Given the description of an element on the screen output the (x, y) to click on. 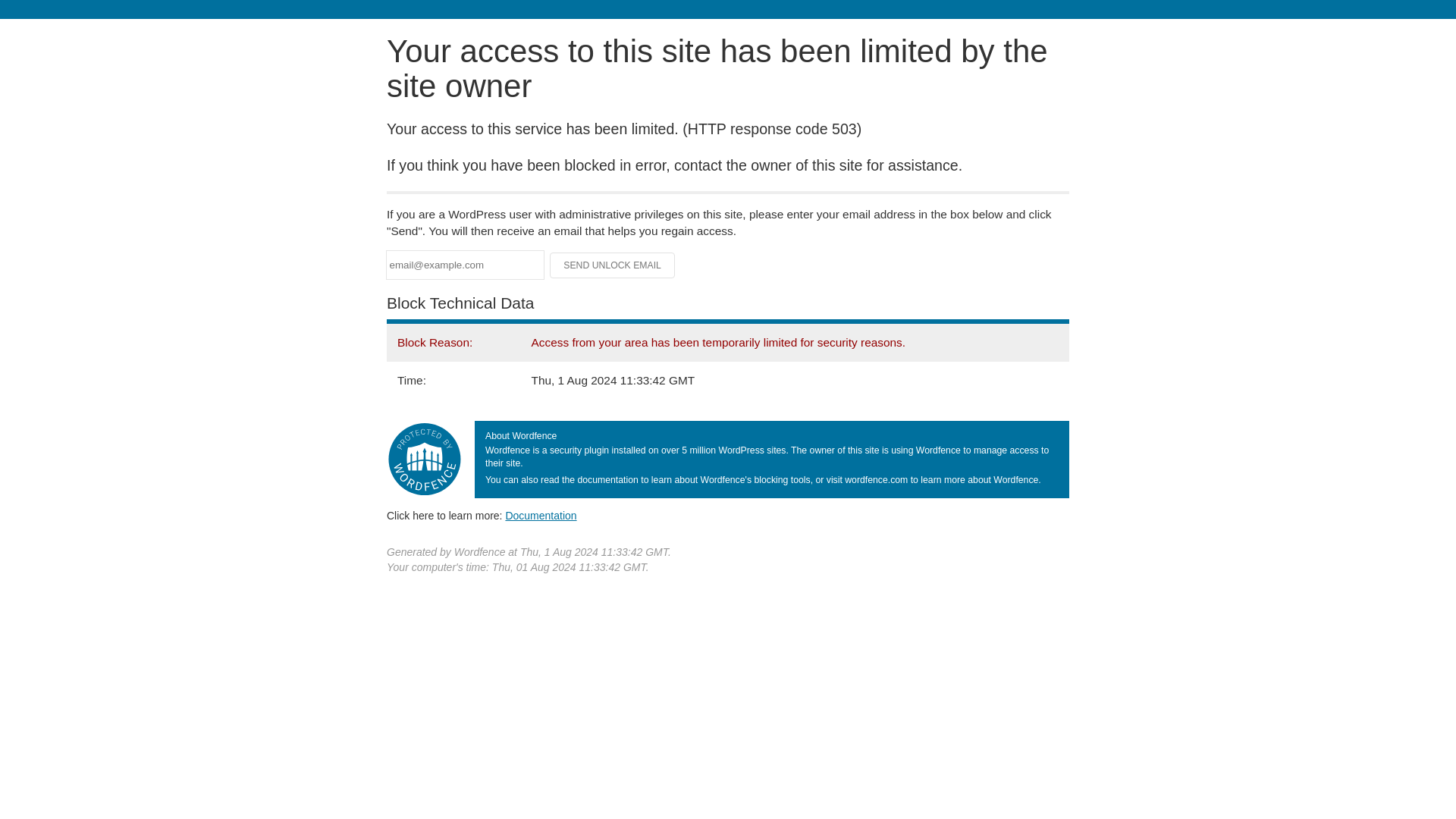
Send Unlock Email (612, 265)
Send Unlock Email (612, 265)
Documentation (540, 515)
